Given the description of an element on the screen output the (x, y) to click on. 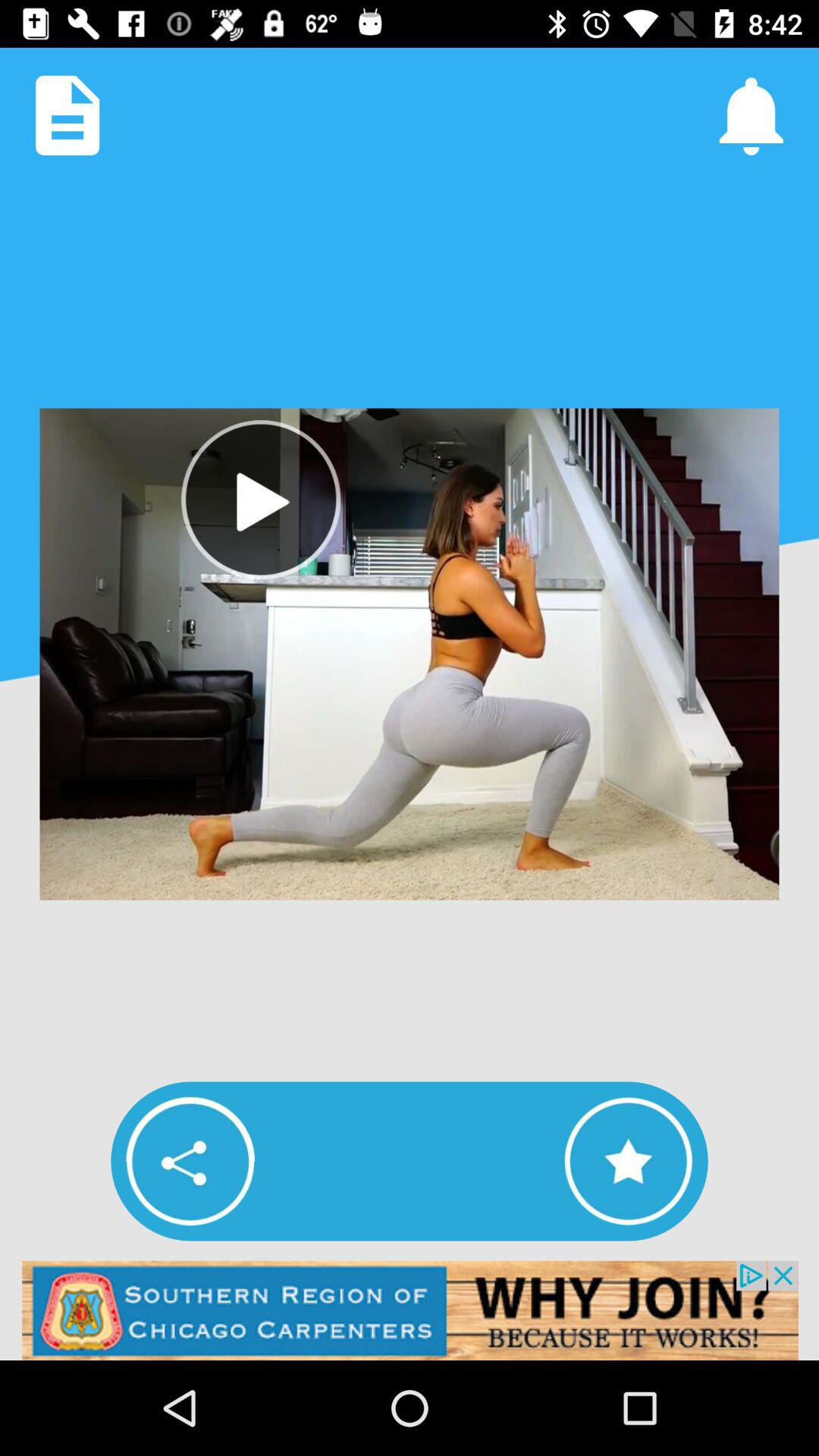
click for advertisement info (409, 1310)
